Given the description of an element on the screen output the (x, y) to click on. 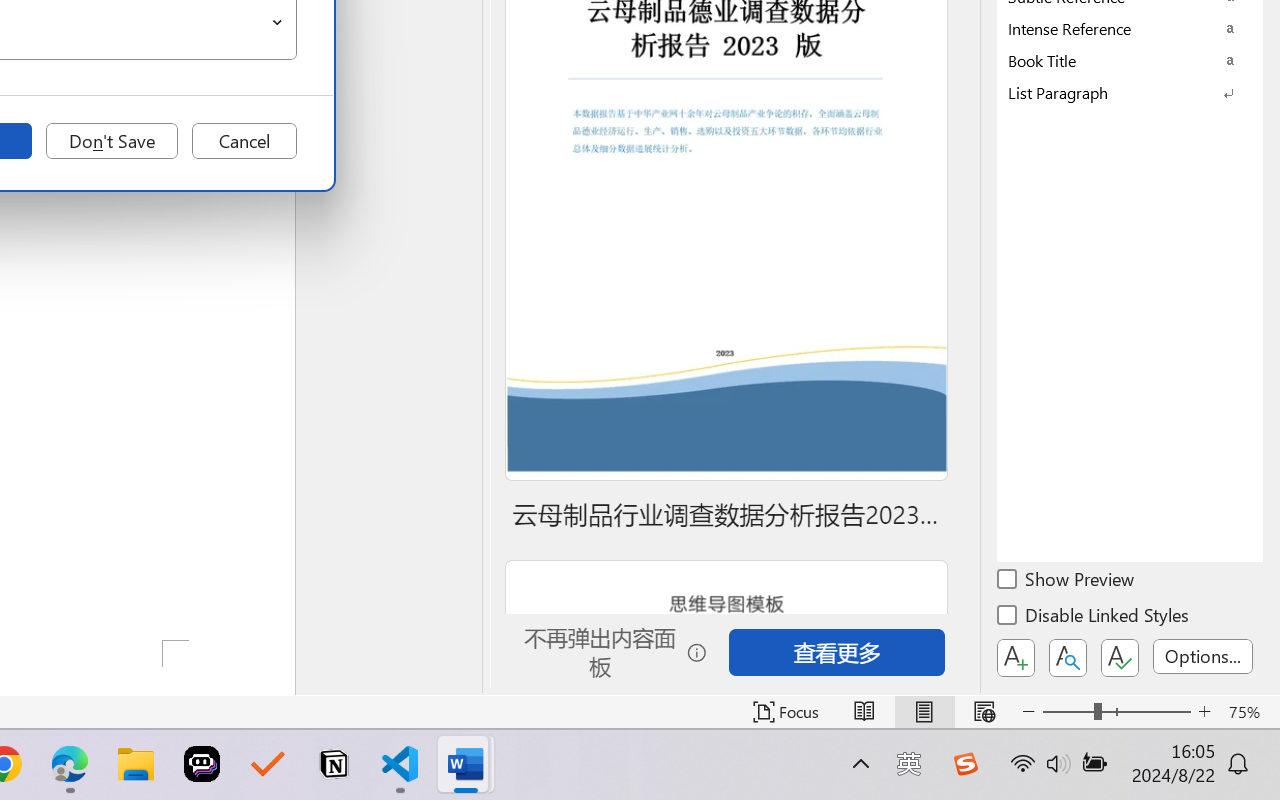
Don't Save (111, 141)
Notion (333, 764)
Print Layout (924, 712)
List Paragraph (1130, 92)
Intense Reference (1130, 28)
